Given the description of an element on the screen output the (x, y) to click on. 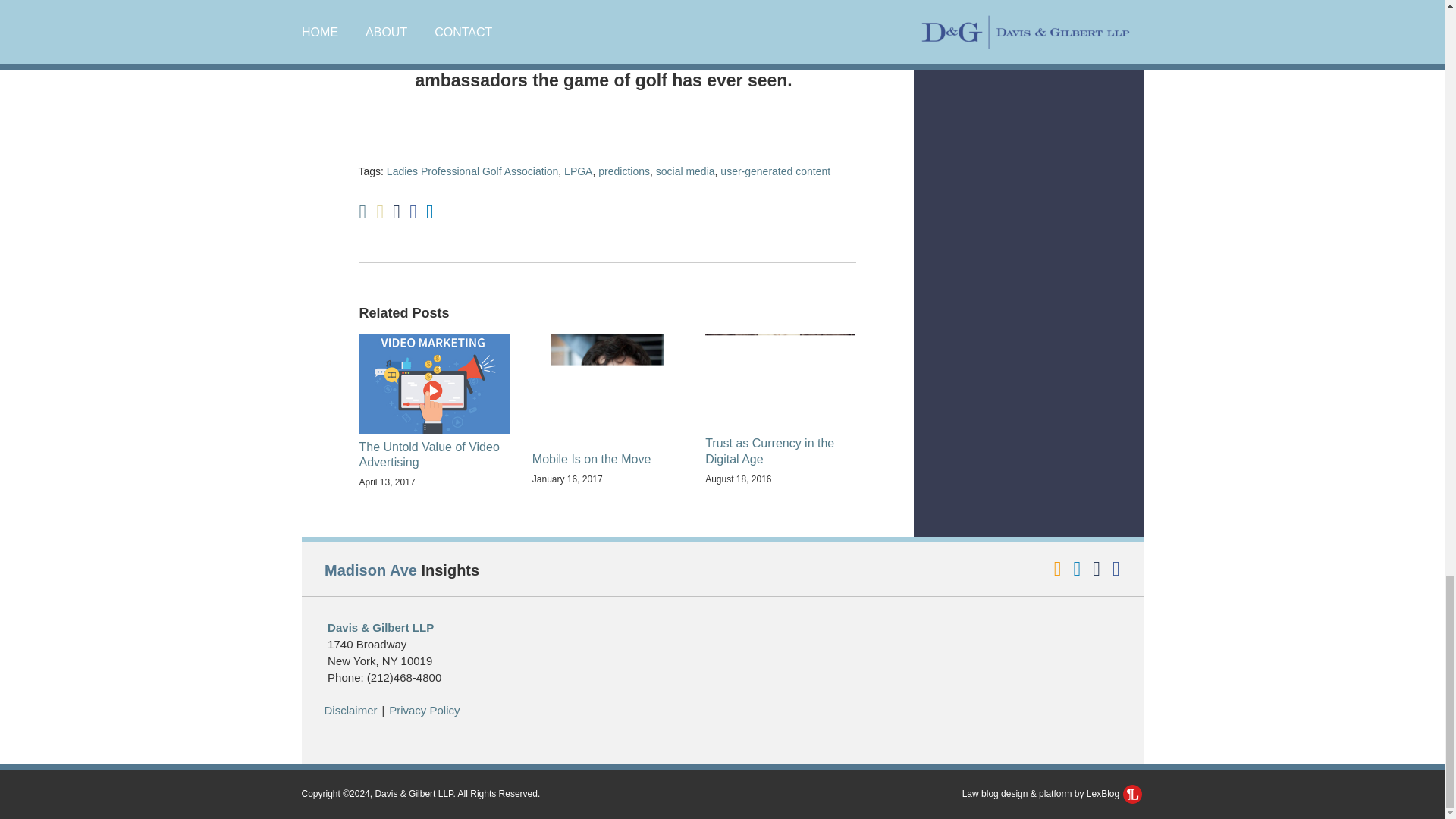
predictions (623, 171)
Trust as Currency in the Digital Age (780, 451)
The Untold Value of Video Advertising (434, 455)
user-generated content (774, 171)
LPGA (578, 171)
Ladies Professional Golf Association (472, 171)
social media (685, 171)
Mobile Is on the Move (591, 459)
LexBlog Logo (1131, 793)
